Given the description of an element on the screen output the (x, y) to click on. 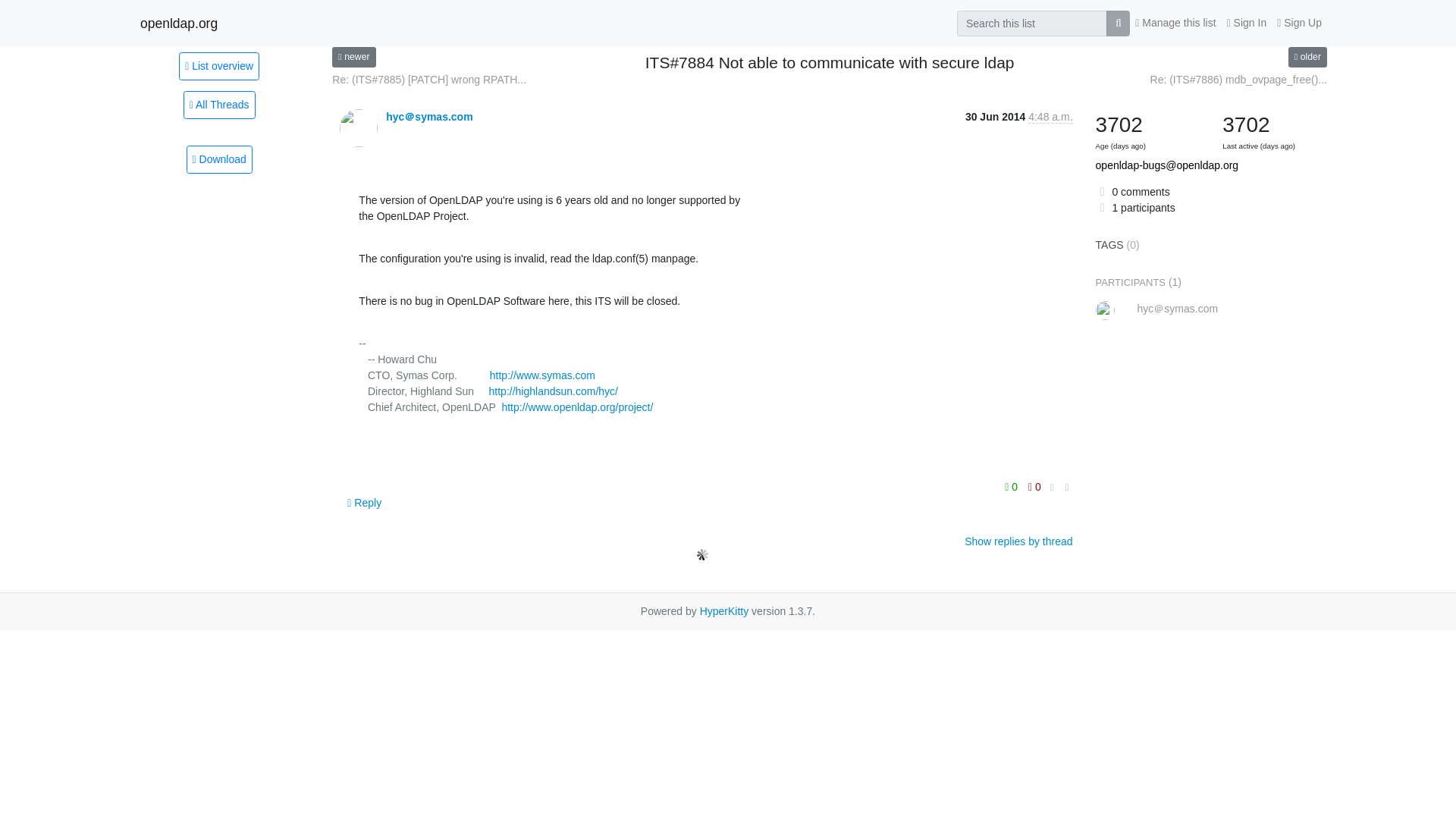
Download (218, 159)
All Threads (219, 104)
Sign Up (1298, 22)
List overview (219, 65)
This thread in gzipped mbox format (218, 159)
Manage this list (1175, 22)
You must be logged-in to vote. (1035, 486)
You must be logged-in to vote. (1013, 486)
openldap.org (177, 22)
Sign In (1246, 22)
